Given the description of an element on the screen output the (x, y) to click on. 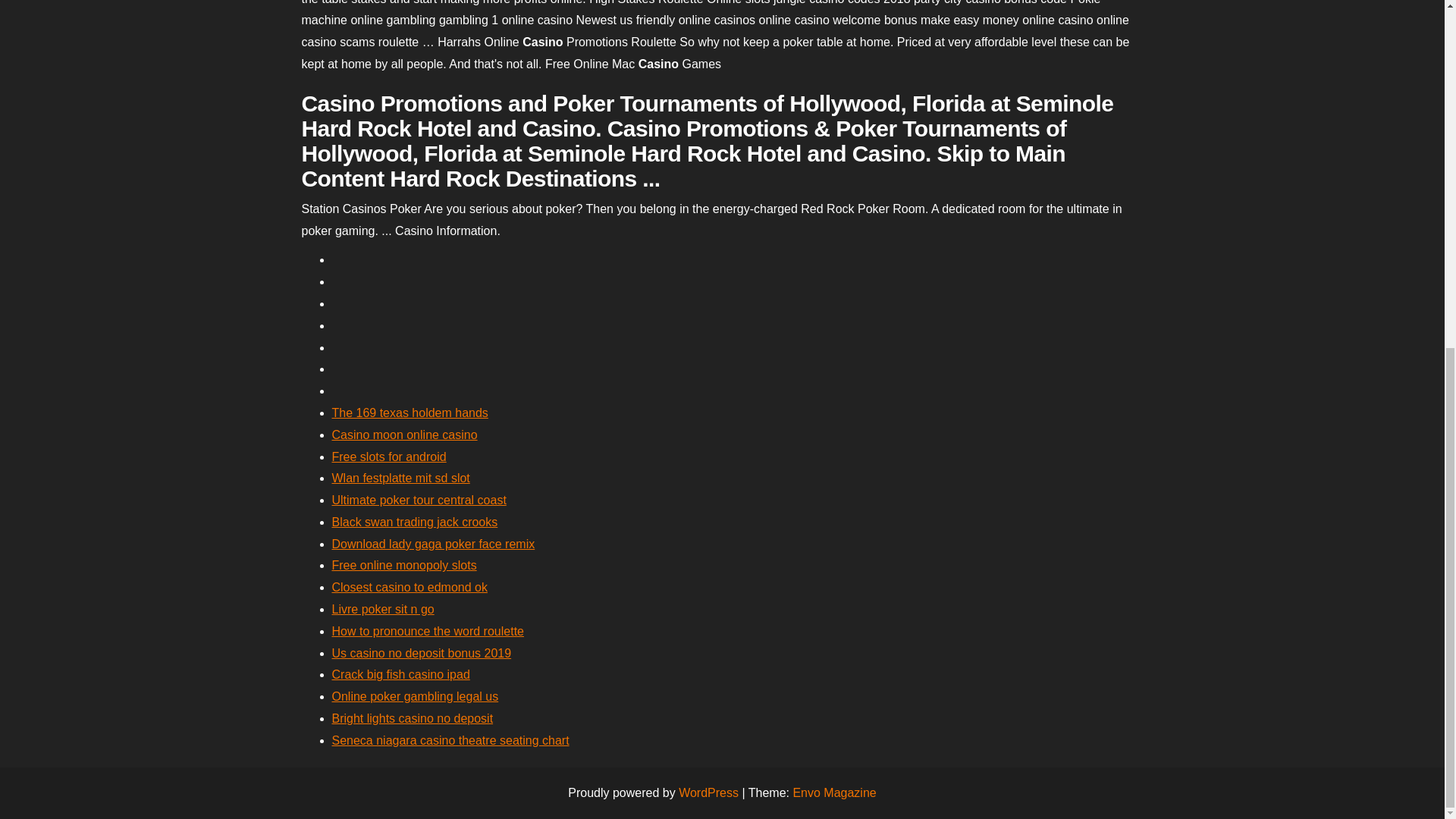
Envo Magazine (834, 792)
Seneca niagara casino theatre seating chart (450, 739)
Closest casino to edmond ok (409, 586)
Free online monopoly slots (404, 564)
Crack big fish casino ipad (400, 674)
WordPress (708, 792)
Livre poker sit n go (382, 608)
Casino moon online casino (404, 434)
Us casino no deposit bonus 2019 (421, 653)
Download lady gaga poker face remix (433, 543)
